Given the description of an element on the screen output the (x, y) to click on. 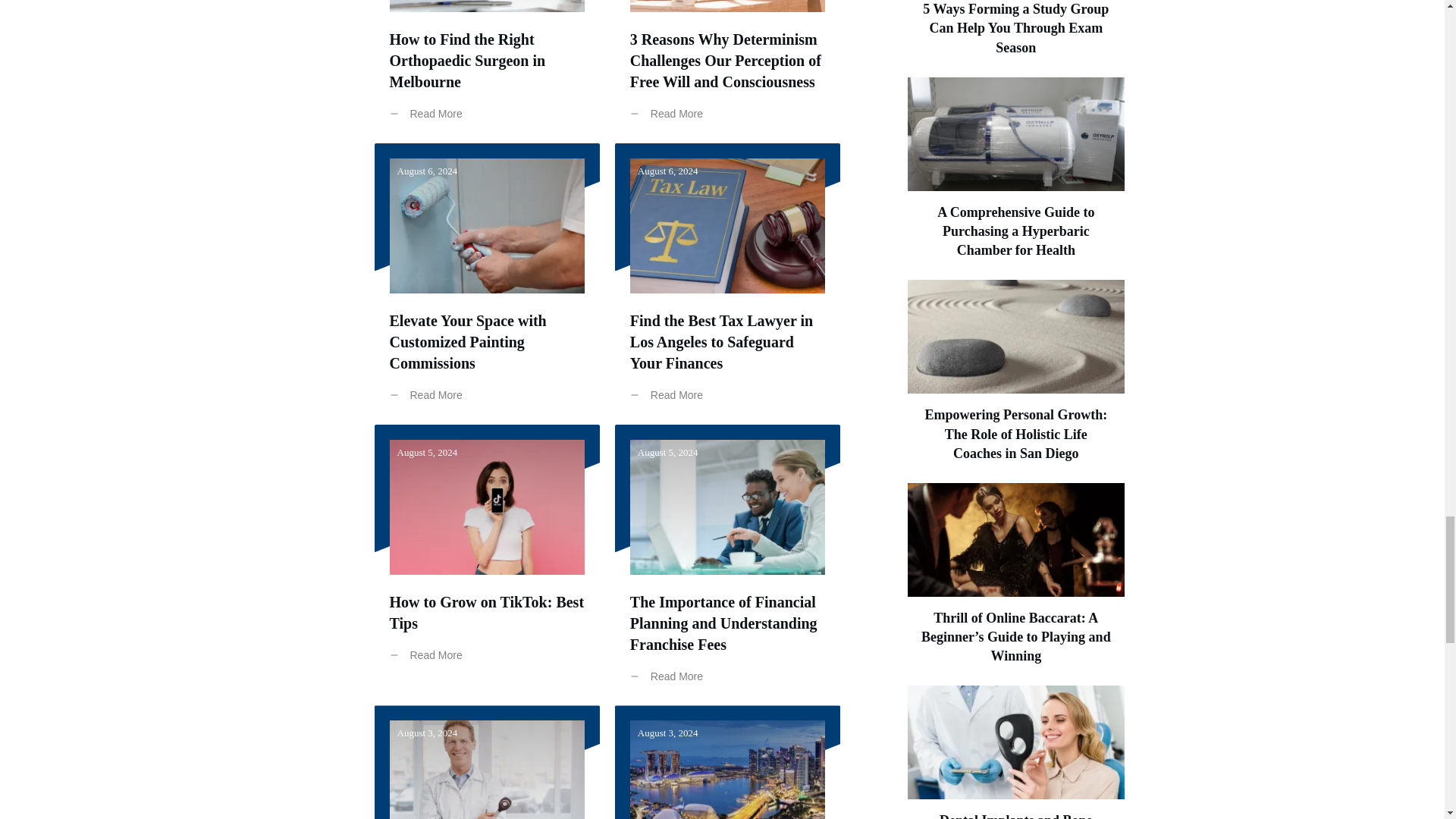
Elevate Your Space with Customized Painting Commissions (468, 341)
How to Find the Right Orthopaedic Surgeon in Melbourne (468, 60)
